Given the description of an element on the screen output the (x, y) to click on. 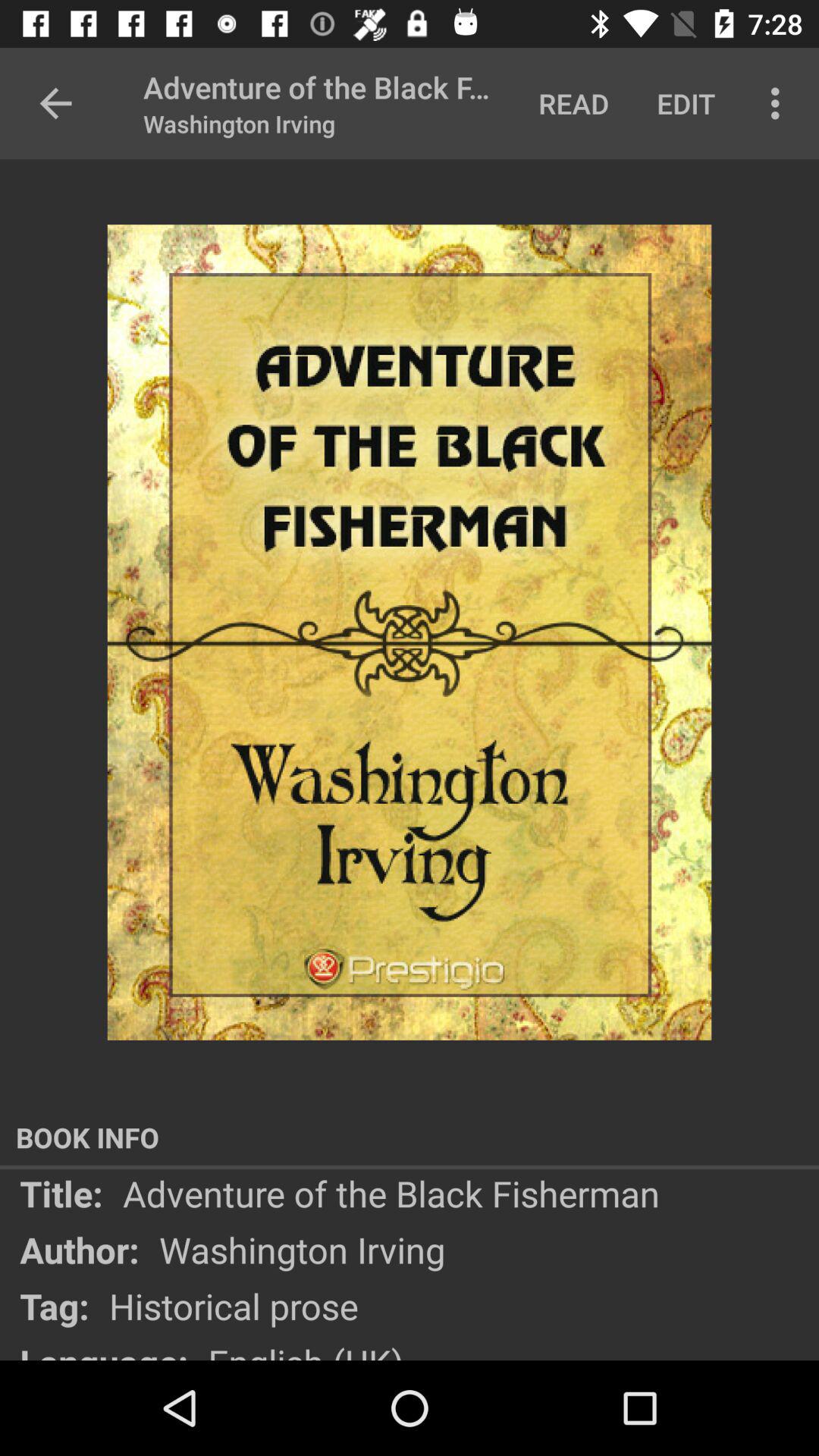
select the text which is to the immediate left of edit (574, 103)
click on the more option icon to the right of edit text (779, 103)
